Given the description of an element on the screen output the (x, y) to click on. 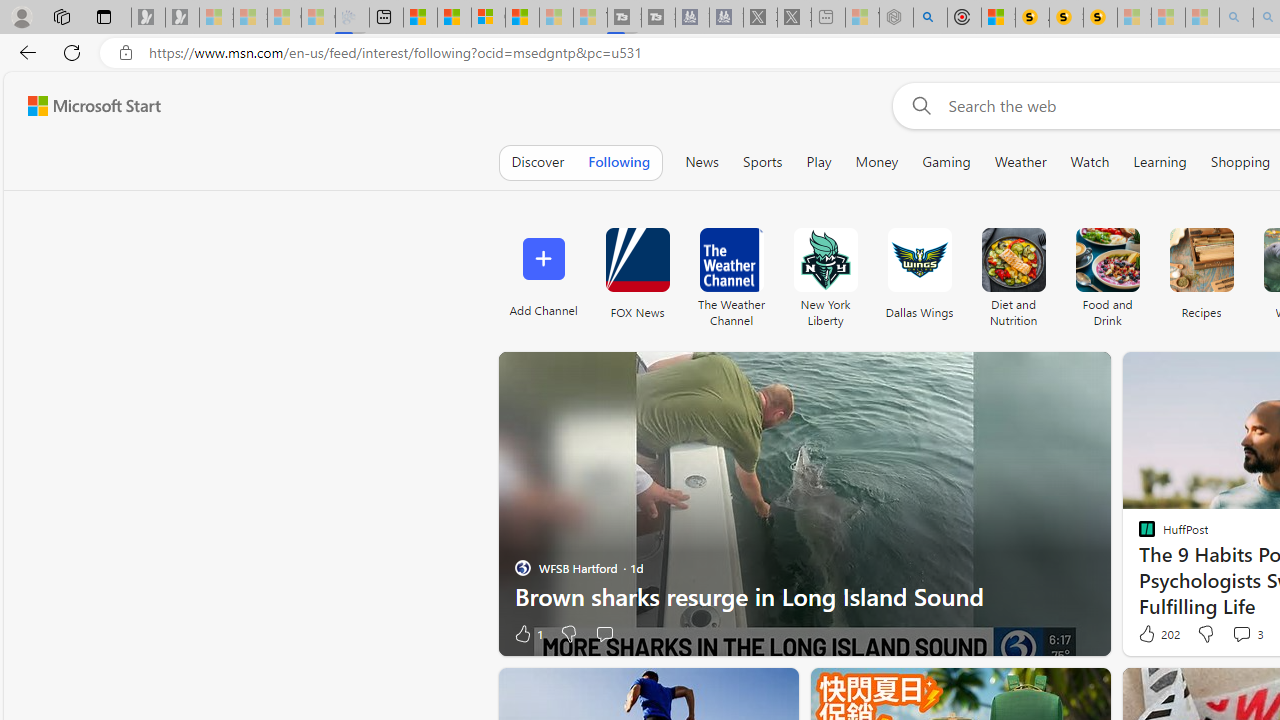
Food and Drink (1107, 272)
Wildlife - MSN - Sleeping (862, 17)
FOX News (637, 260)
Diet and Nutrition (1012, 260)
